Given the description of an element on the screen output the (x, y) to click on. 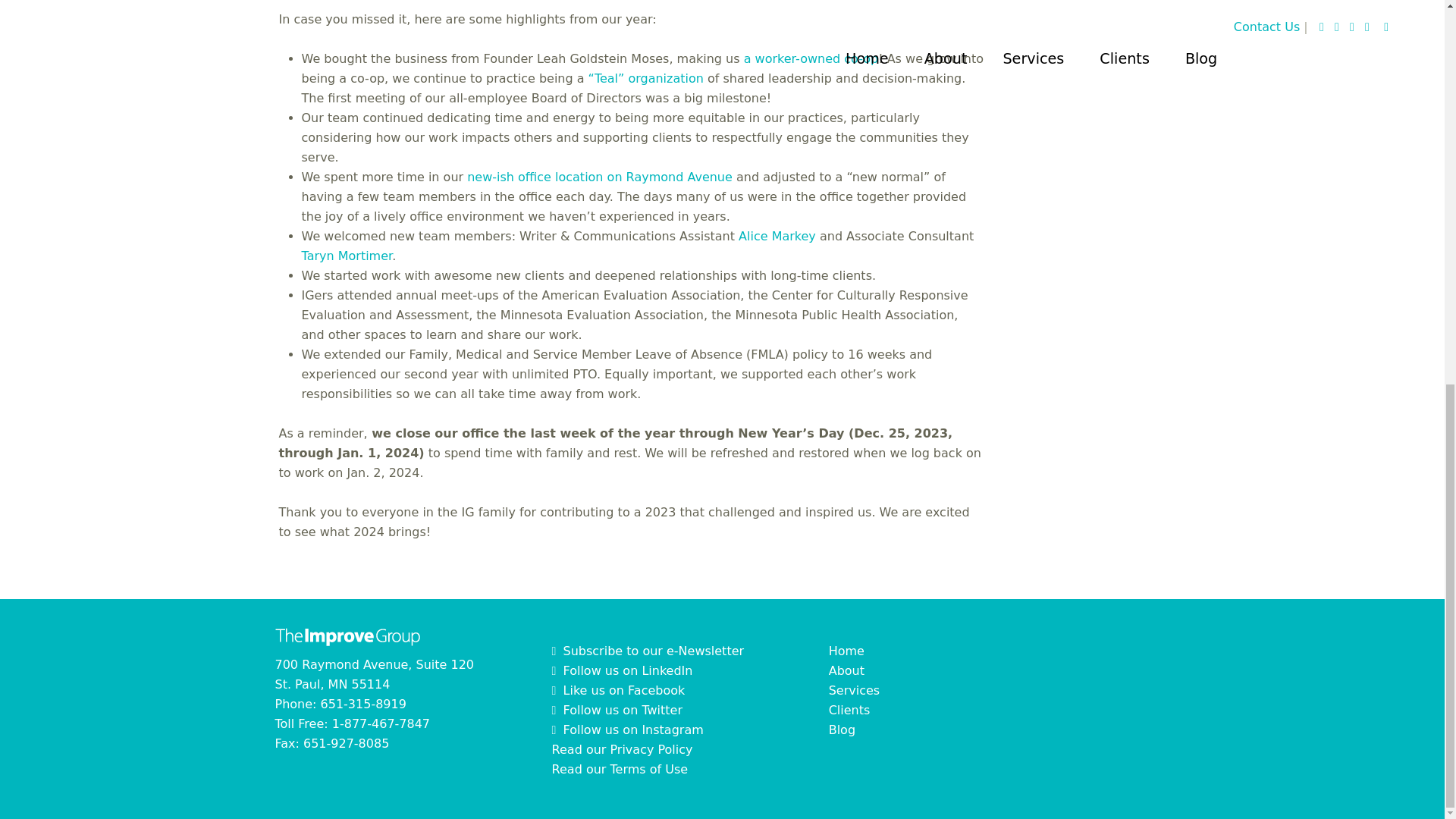
Subscribe to our e-Newsletter (647, 650)
Alice Markey (776, 236)
a worker-owned co-op (811, 58)
Follow us on Twitter (616, 709)
Taryn Mortimer (347, 255)
Follow us on Twitter (622, 670)
Follow us on Instagram (627, 729)
Like us on Facebook (618, 690)
new-ish office location on Raymond Avenue (599, 176)
